Given the description of an element on the screen output the (x, y) to click on. 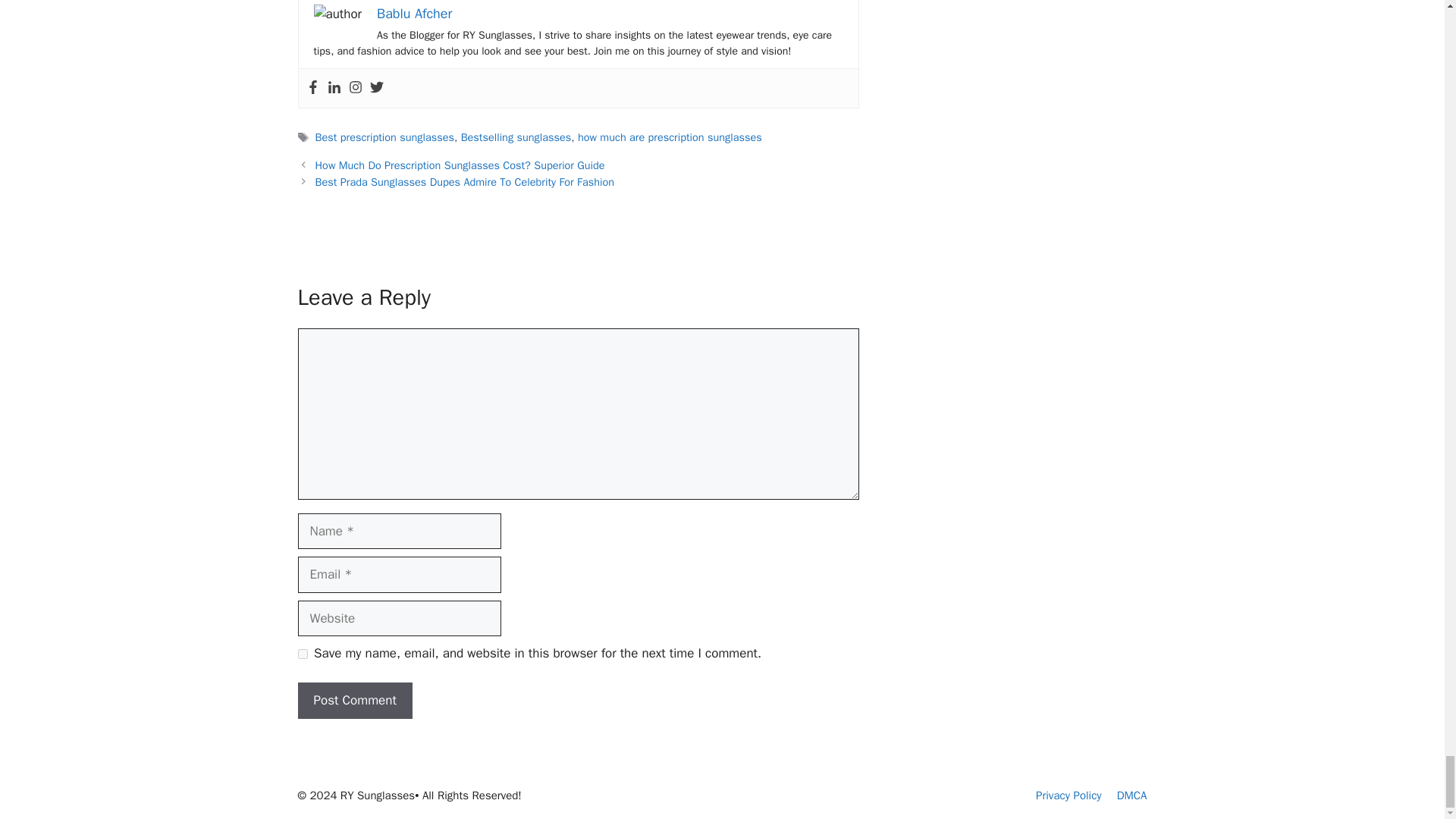
Bestselling sunglasses (516, 137)
Best Prada Sunglasses Dupes Admire To Celebrity For Fashion (464, 182)
DMCA (1131, 795)
yes (302, 654)
Privacy Policy (1068, 795)
Post Comment (354, 700)
Best prescription sunglasses (384, 137)
Post Comment (354, 700)
Bablu Afcher (414, 13)
How Much Do Prescription Sunglasses Cost? Superior Guide (460, 164)
